Given the description of an element on the screen output the (x, y) to click on. 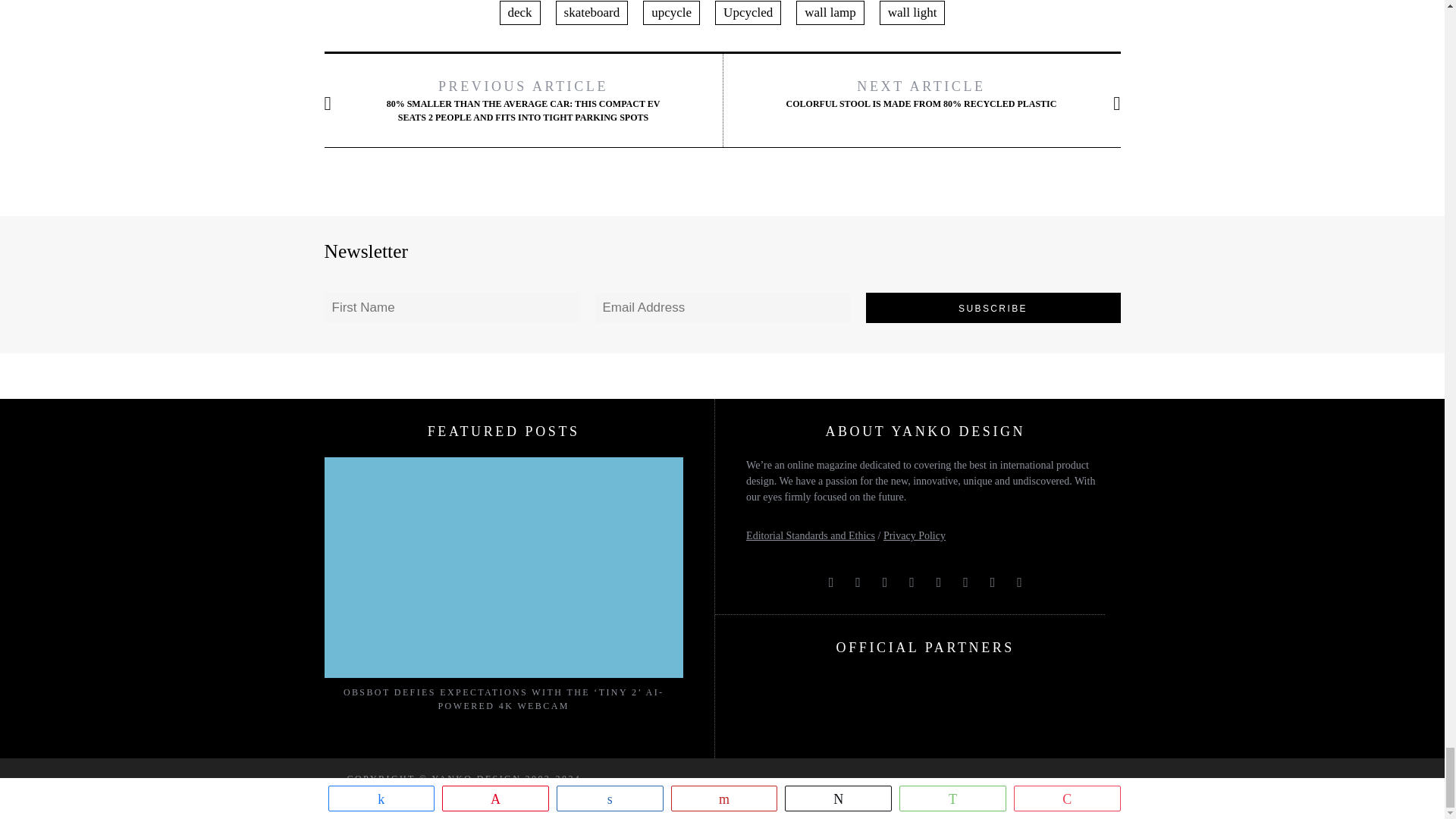
Editorial Standards and Ethics (810, 535)
Subscribe (993, 307)
Privacy Policy (913, 535)
